Given the description of an element on the screen output the (x, y) to click on. 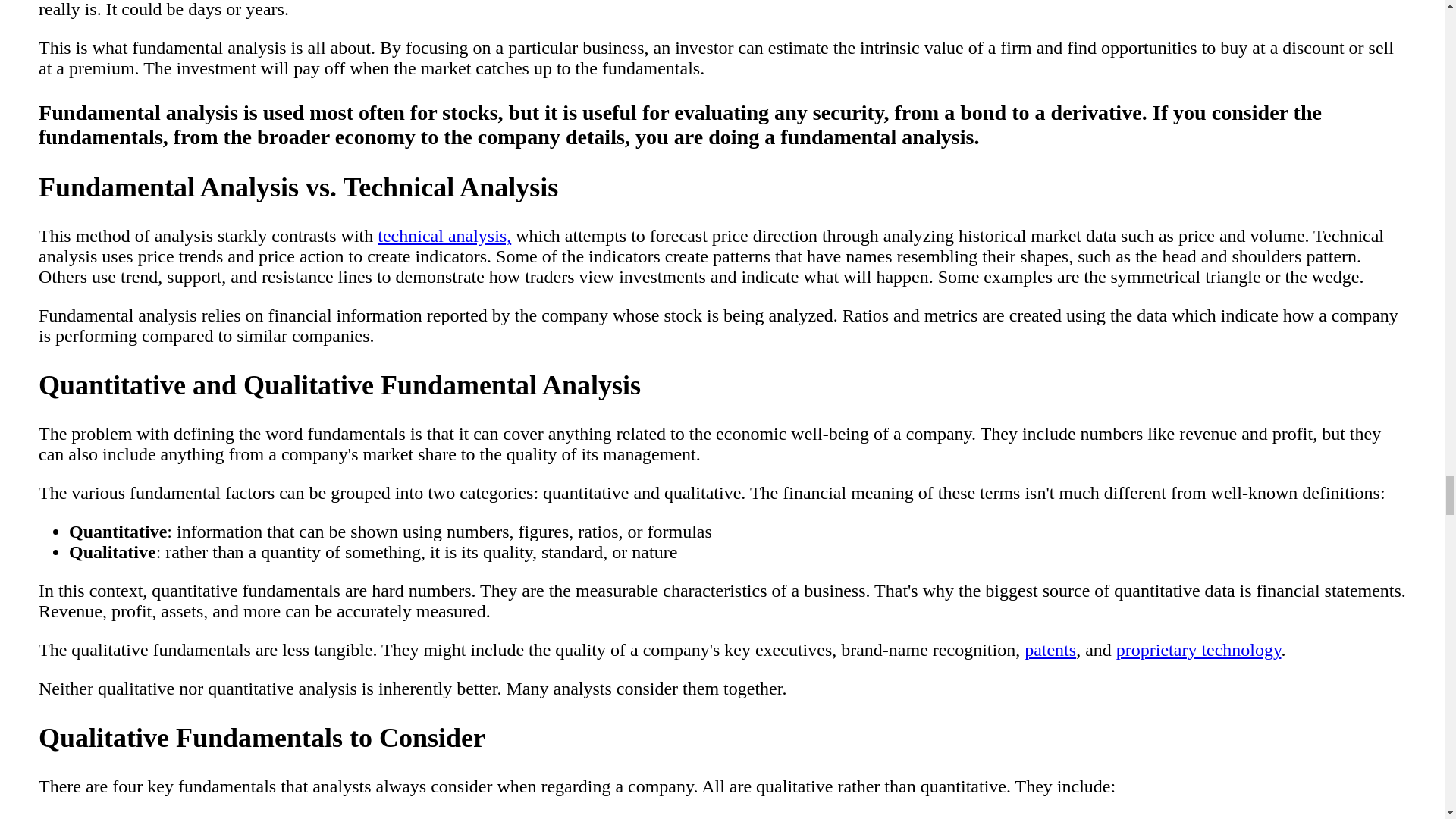
patents (1050, 649)
proprietary technology (1198, 649)
technical analysis, (444, 235)
